Given the description of an element on the screen output the (x, y) to click on. 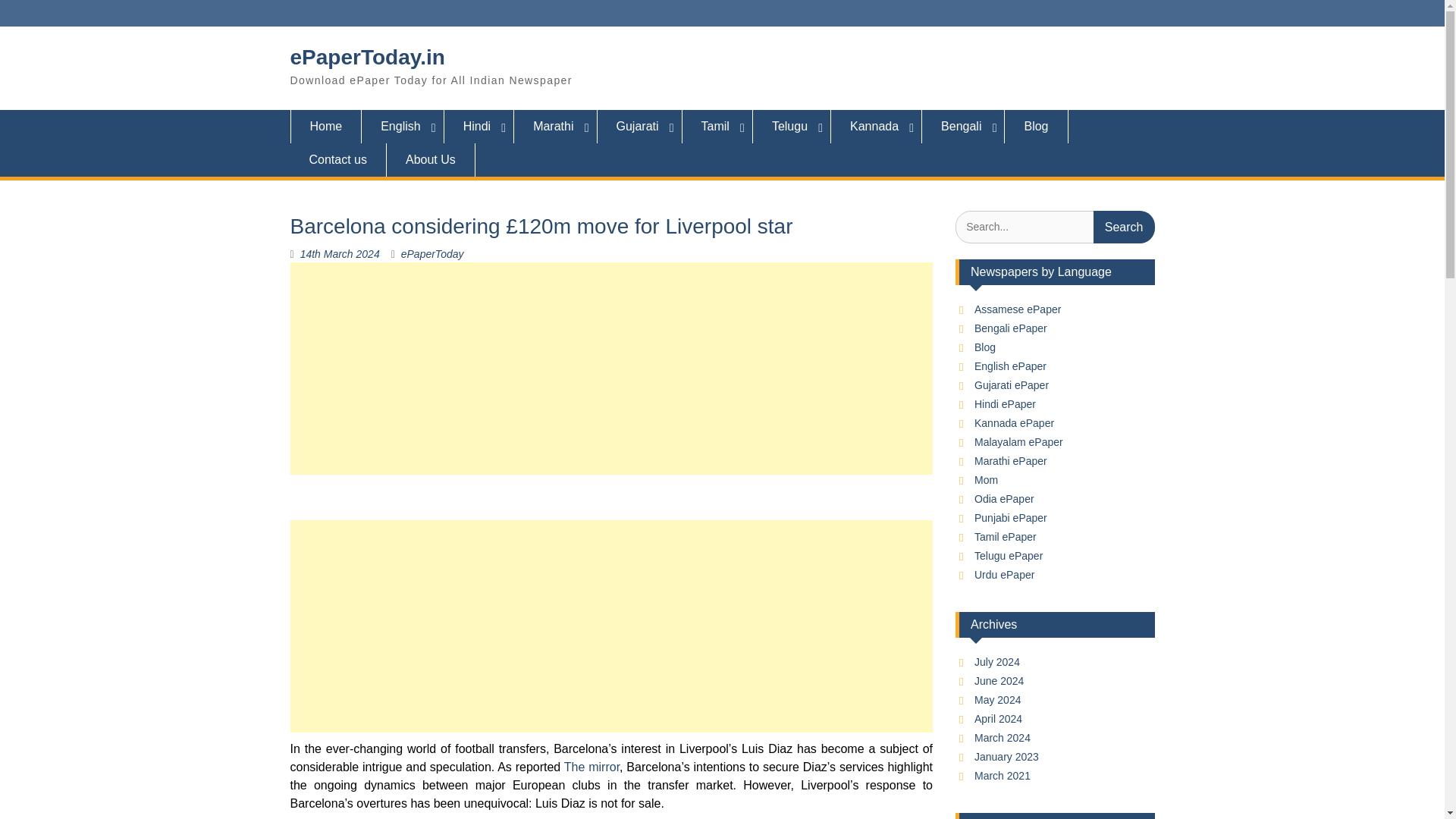
Contact us (337, 159)
ePaperToday.in (366, 56)
Tamil (717, 126)
Kannada (876, 126)
Gujarati (639, 126)
Bengali (962, 126)
Search for: (1054, 226)
Hindi (478, 126)
Marathi (554, 126)
Blog (1035, 126)
Home (325, 126)
English (402, 126)
Search (1123, 226)
